Given the description of an element on the screen output the (x, y) to click on. 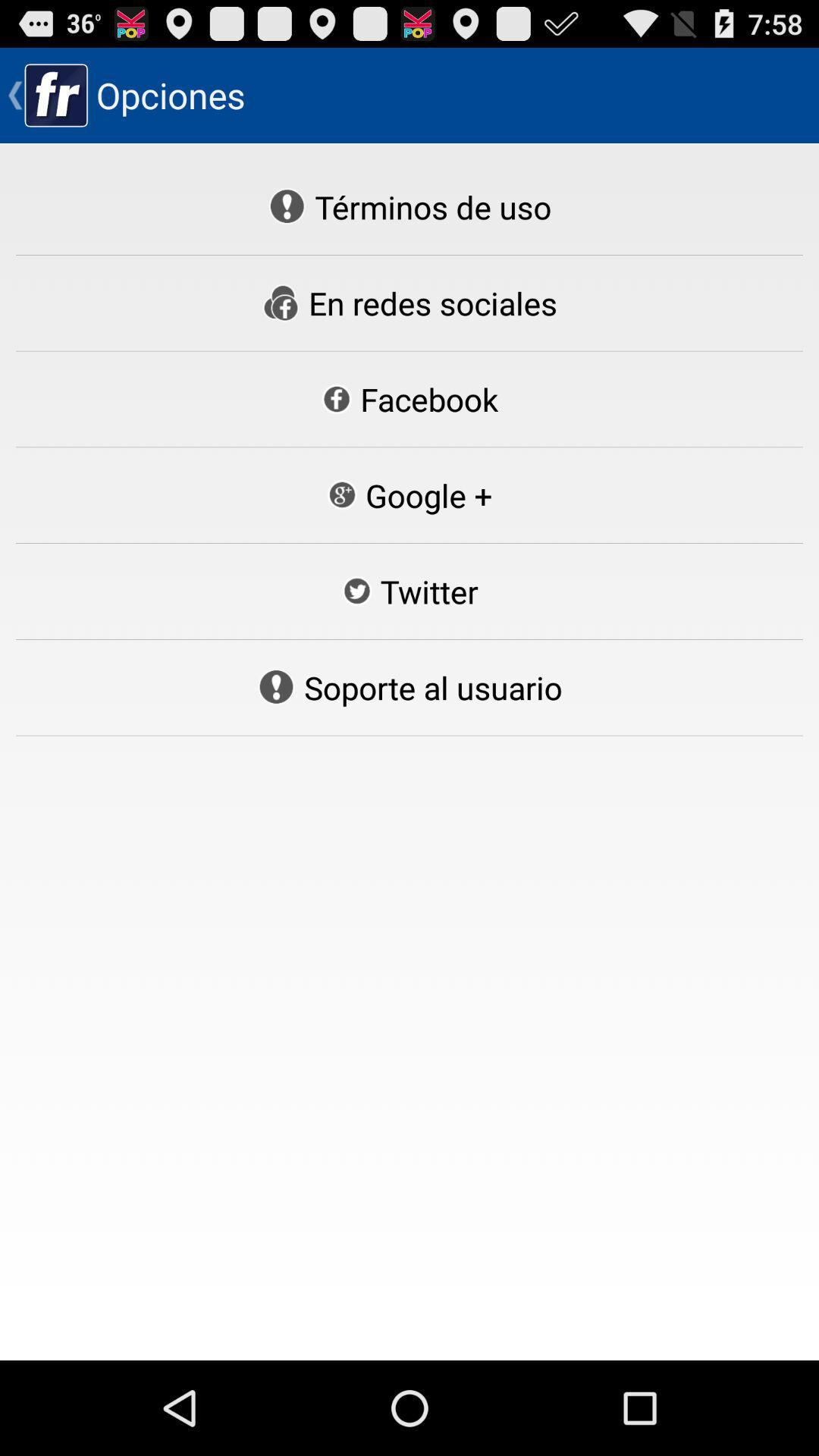
jump until the en redes sociales button (409, 302)
